Given the description of an element on the screen output the (x, y) to click on. 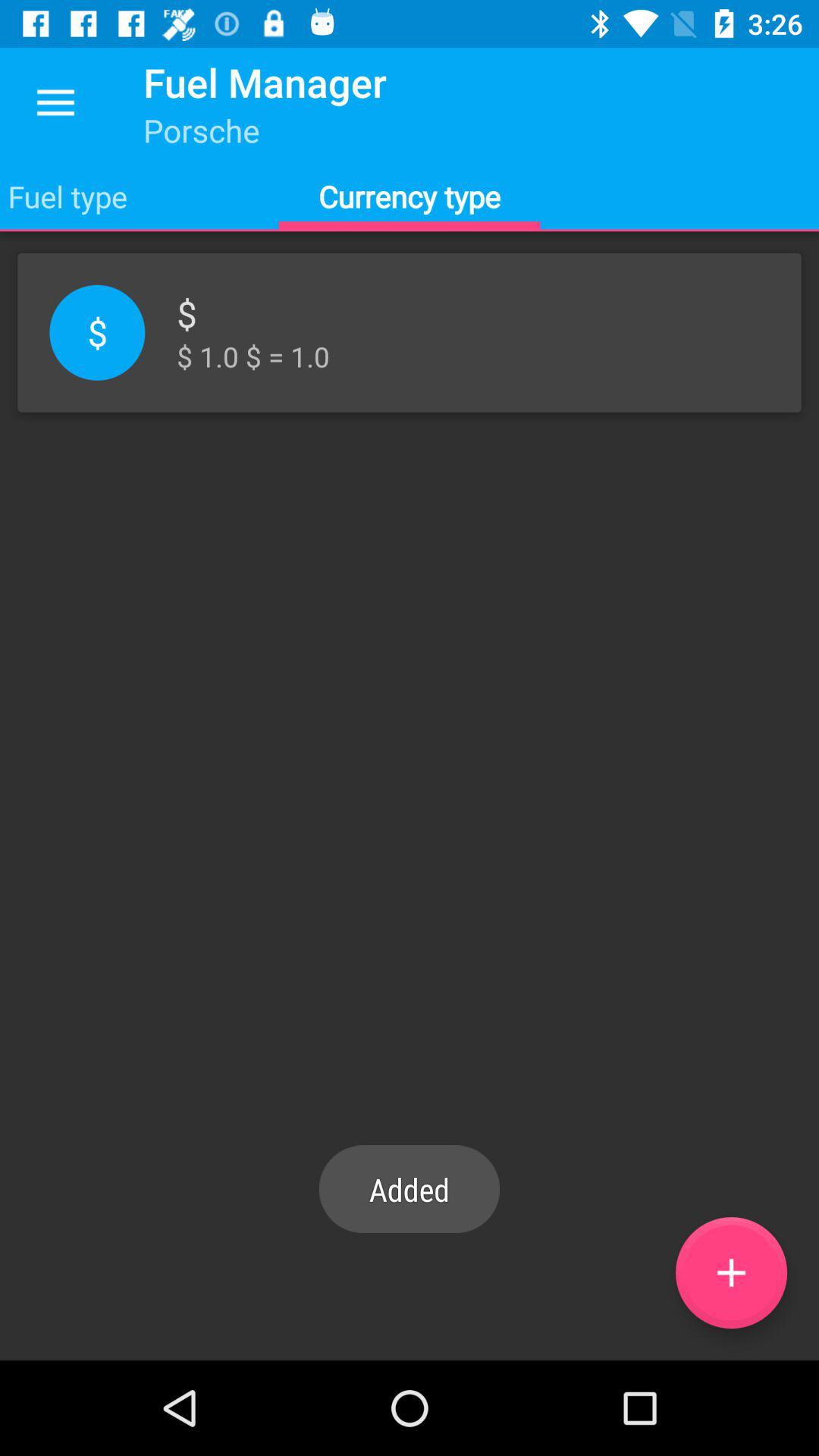
choose icon next to fuel manager app (55, 103)
